Given the description of an element on the screen output the (x, y) to click on. 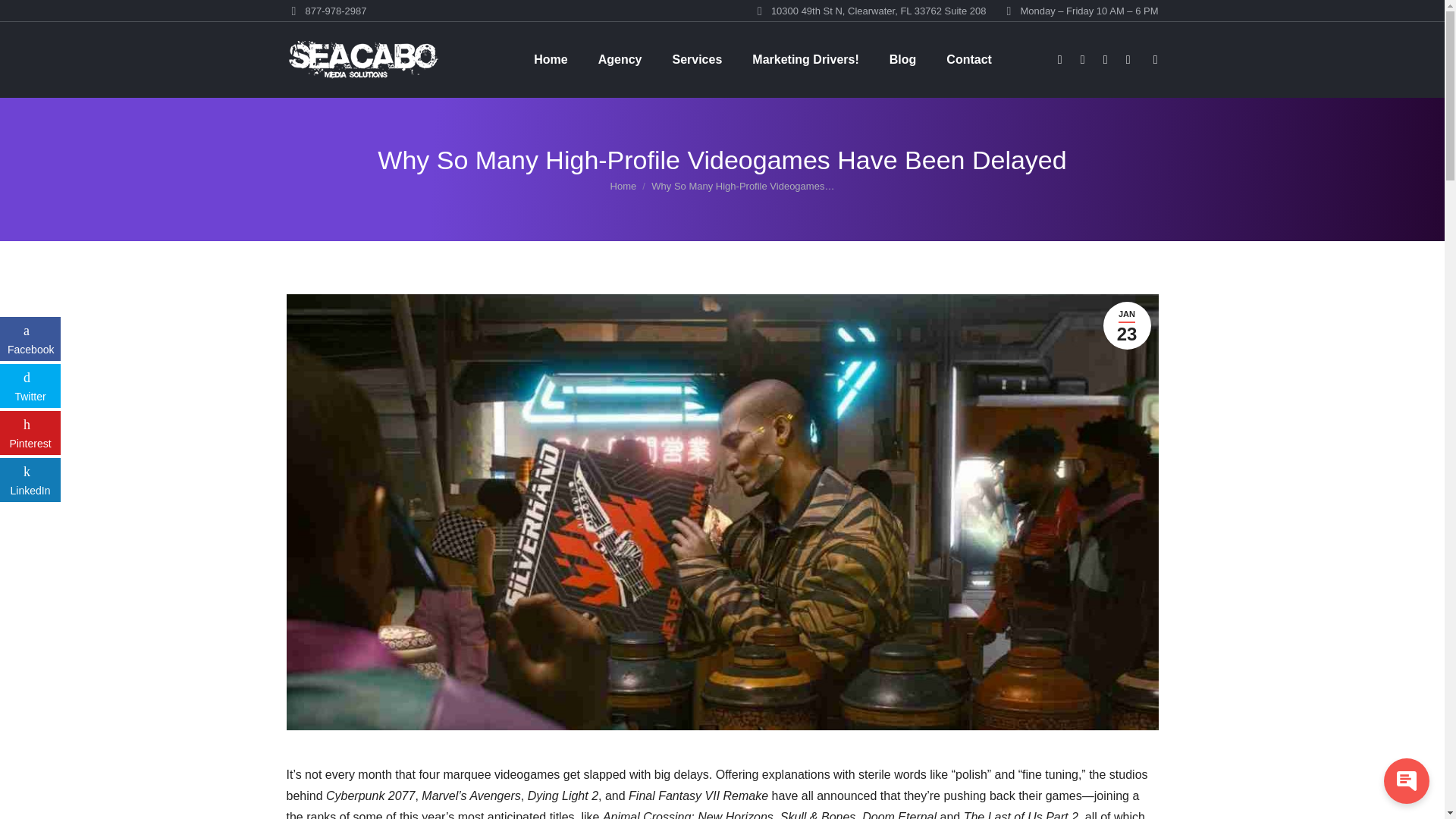
877-978-2987 (326, 11)
Twitter page opens in new window (1083, 59)
Instagram page opens in new window (1105, 59)
Marketing Drivers! (805, 59)
Services (696, 59)
Twitter page opens in new window (1083, 59)
Linkedin page opens in new window (1128, 59)
Agency (620, 59)
Facebook page opens in new window (1059, 59)
Home (550, 59)
6:29 pm (1126, 325)
Facebook page opens in new window (1059, 59)
Contact (968, 59)
